Given the description of an element on the screen output the (x, y) to click on. 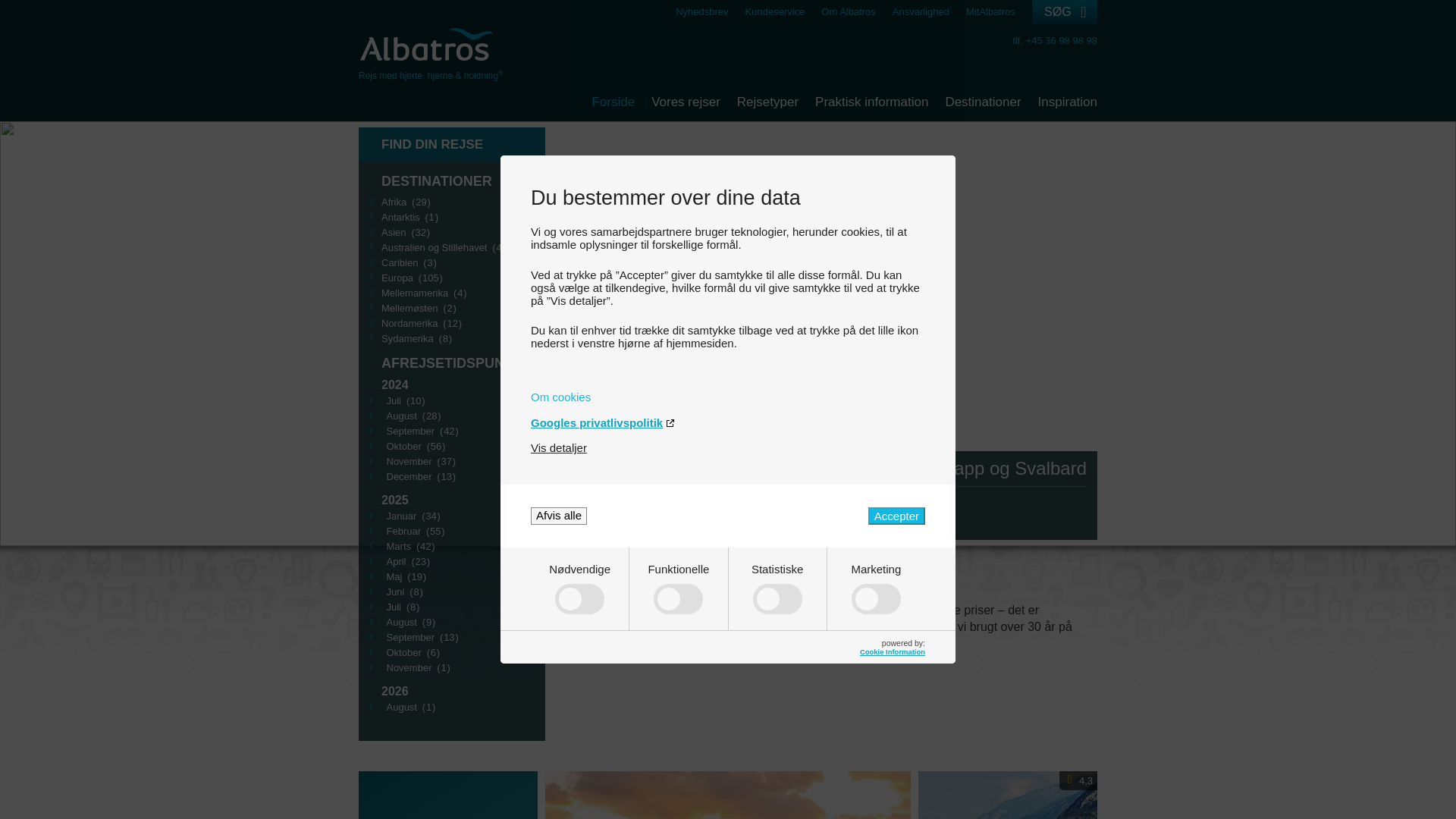
Vis detaljer (558, 447)
Om cookies (727, 396)
Googles privatlivspolitik (727, 422)
